Given the description of an element on the screen output the (x, y) to click on. 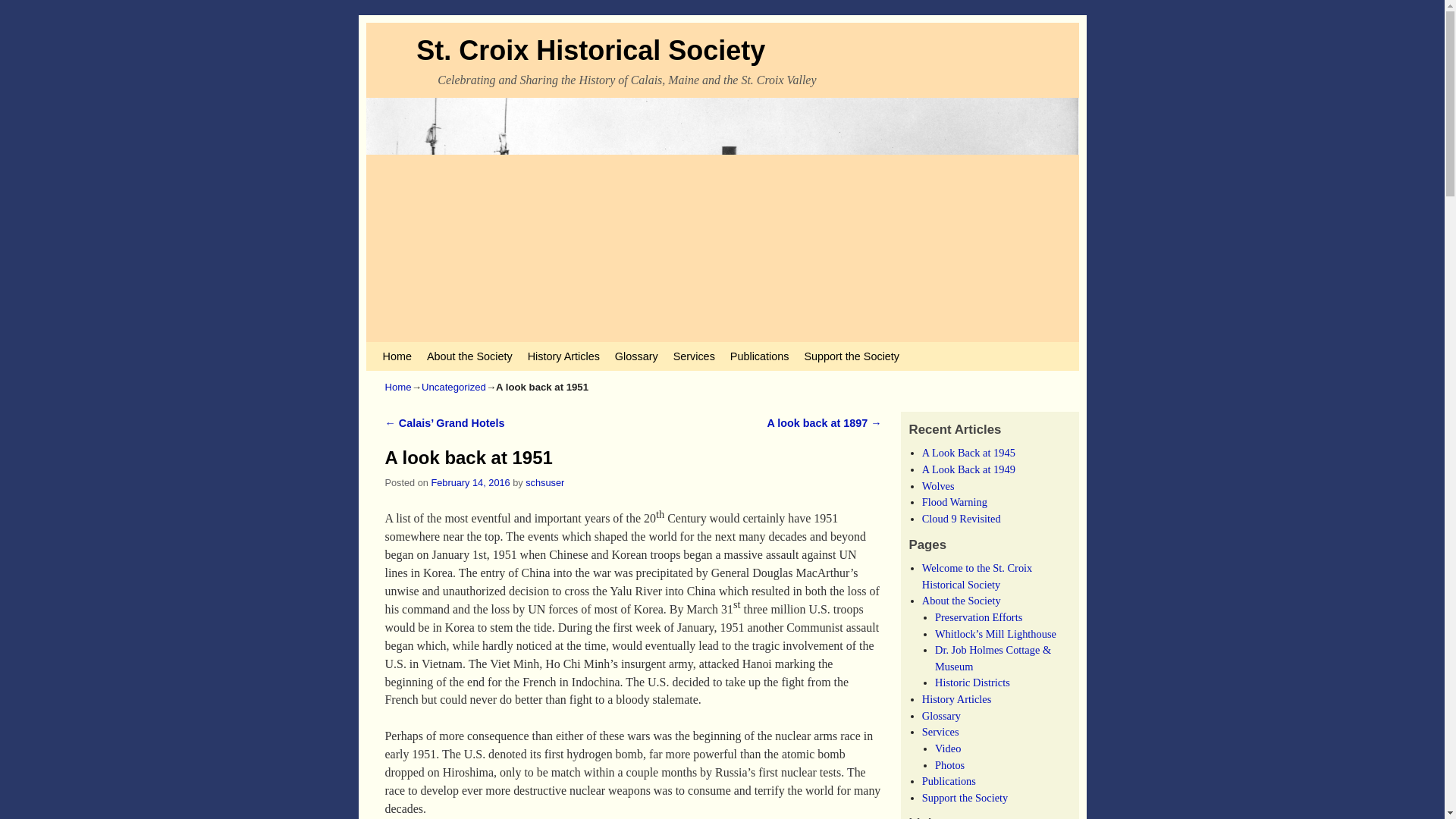
Support the Society (851, 356)
Glossary (636, 356)
Skip to primary content (408, 348)
History Articles (563, 356)
Home (398, 387)
St. Croix Historical Society (590, 50)
February 14, 2016 (469, 482)
schsuser (544, 482)
View all posts by schsuser (544, 482)
Publications (759, 356)
